Given the description of an element on the screen output the (x, y) to click on. 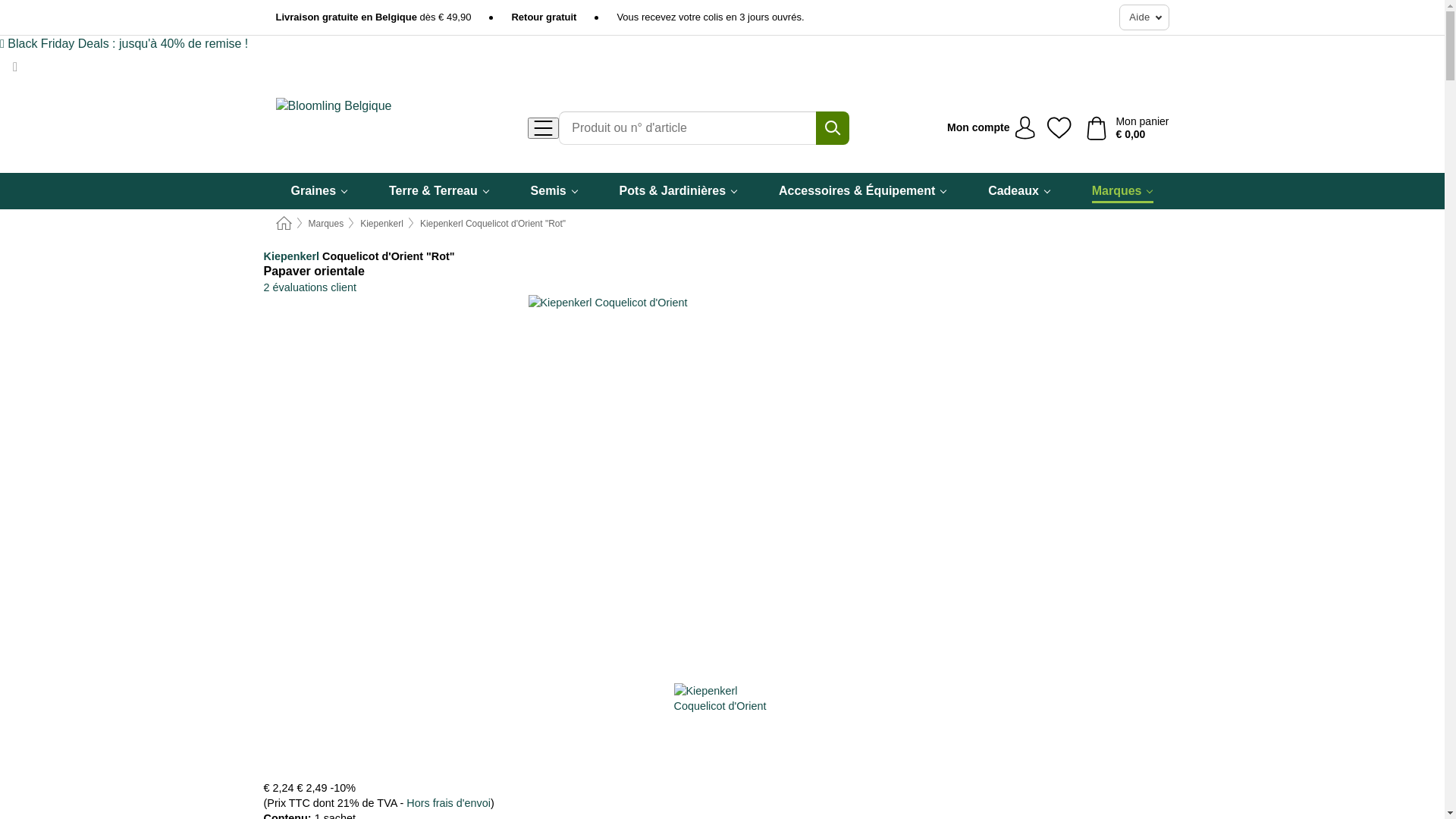
Cadeaux Element type: text (1019, 190)
Hors frais d'envoi Element type: text (448, 803)
Marques Element type: text (1123, 190)
Semis Element type: text (554, 190)
Marques Element type: text (325, 223)
Kiepenkerl Element type: text (381, 223)
Mon compte Element type: text (991, 127)
Terre & Terreau Element type: text (439, 190)
Graines Element type: text (319, 190)
Page d'accueil Element type: text (283, 223)
Aide Element type: text (1143, 17)
Kiepenkerl Coquelicot d'Orient "Rot" Element type: text (492, 223)
Kiepenkerl Element type: text (291, 256)
Retour gratuit Element type: text (543, 17)
